Given the description of an element on the screen output the (x, y) to click on. 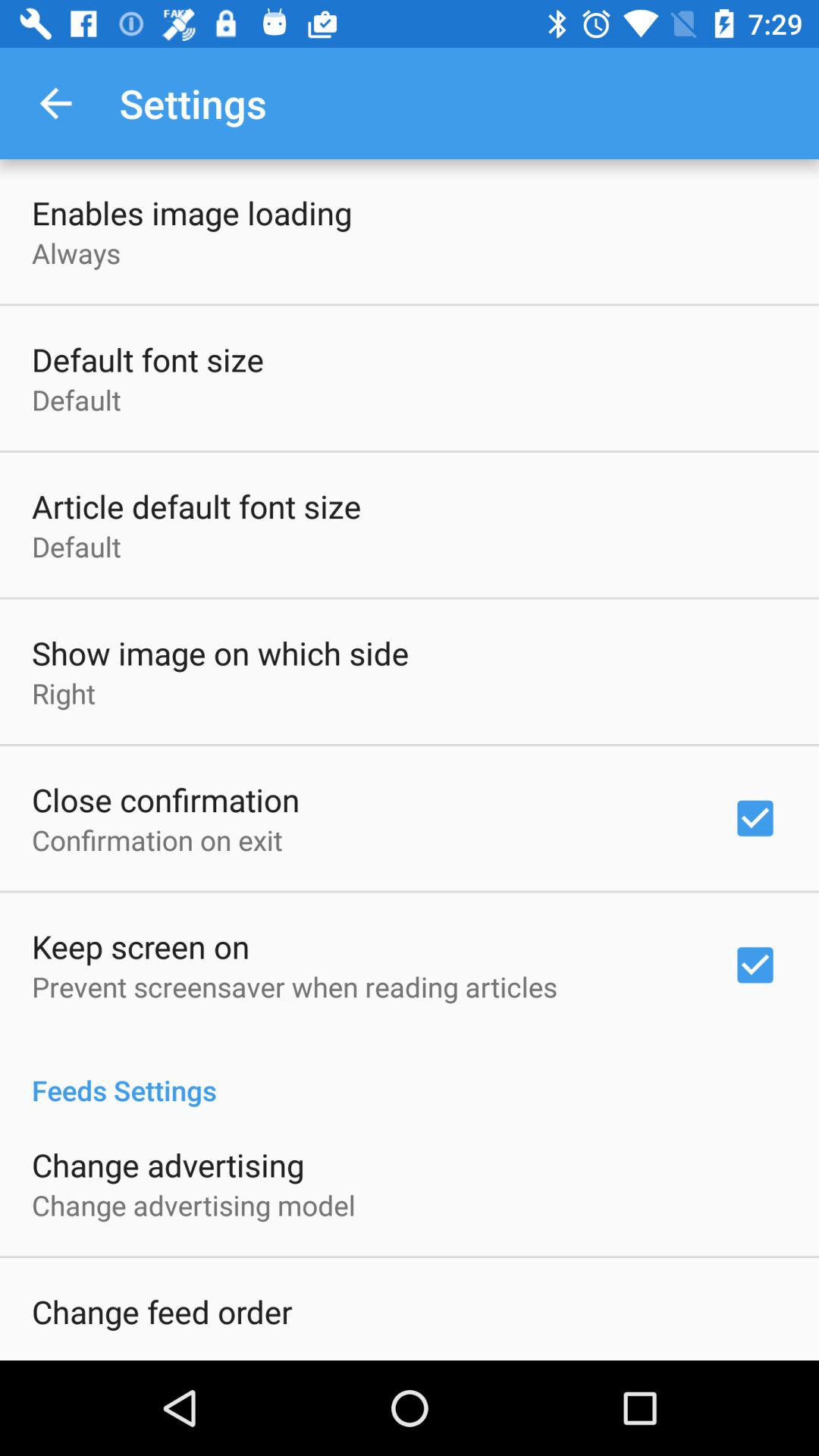
select icon below the enables image loading icon (75, 252)
